Given the description of an element on the screen output the (x, y) to click on. 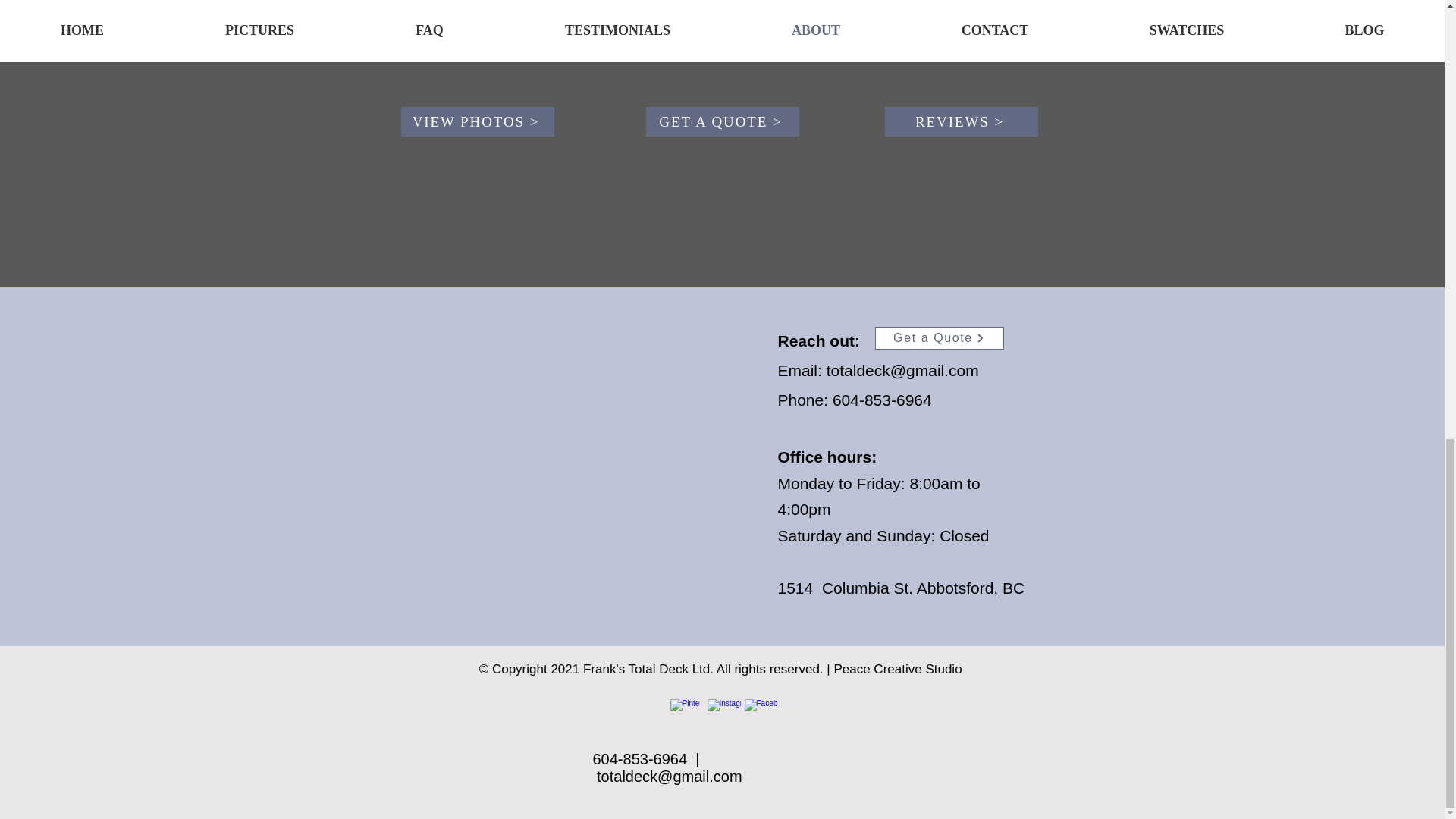
Get a Quote (939, 337)
Peace Creative Studio  (897, 668)
604-853-6964 (881, 399)
